Given the description of an element on the screen output the (x, y) to click on. 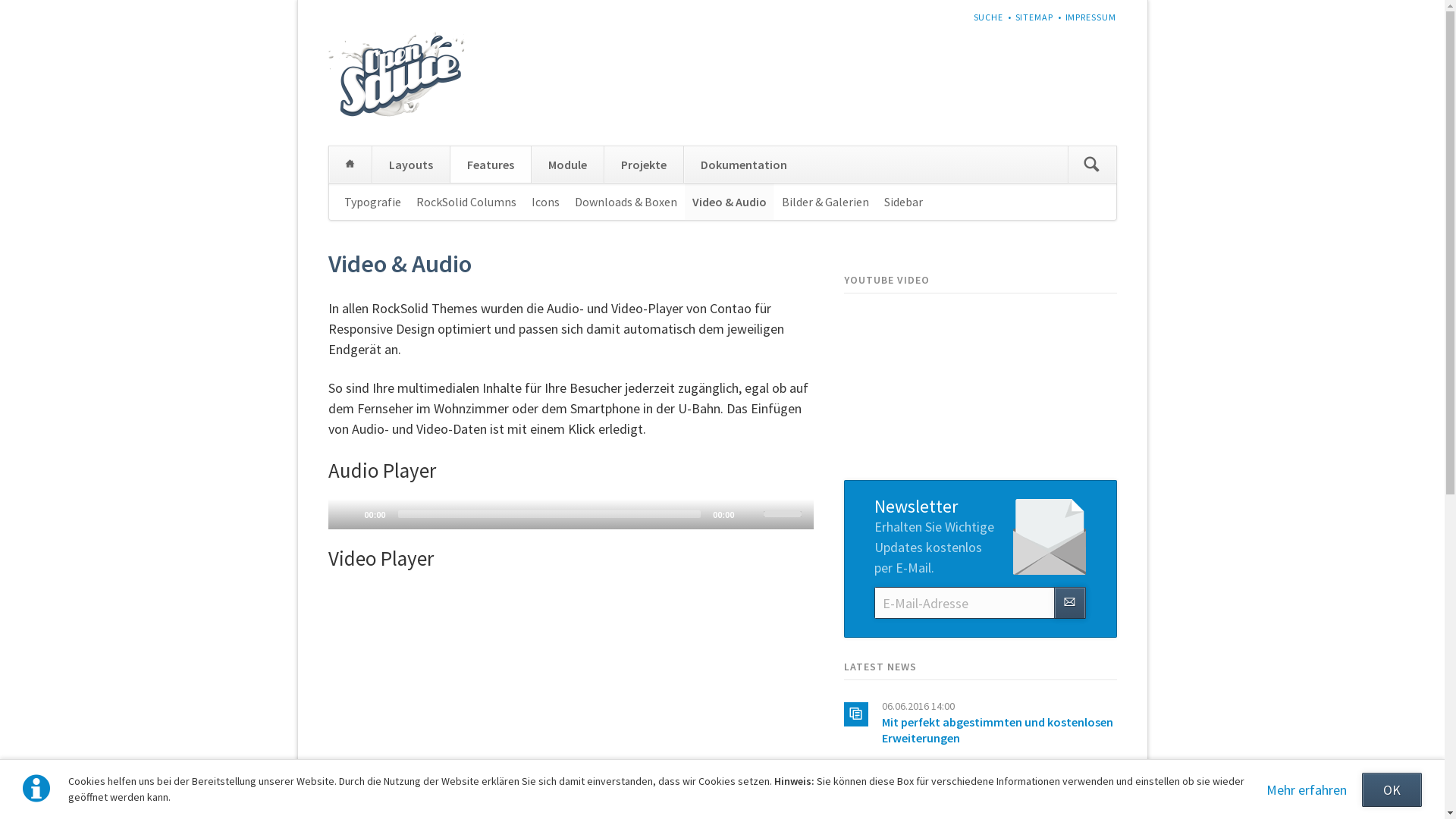
Bilder & Galerien Element type: text (824, 201)
Sidebar Element type: text (903, 201)
Suchen Element type: text (1091, 164)
Mehr erfahren Element type: text (1306, 789)
Features Element type: text (489, 164)
SUCHE Element type: text (988, 16)
RockSolid Columns Element type: text (465, 201)
  Element type: text (1116, 9)
Module Element type: text (566, 164)
Icons Element type: text (544, 201)
Dokumentation Element type: text (742, 164)
Downloads & Boxen Element type: text (625, 201)
Projekte Element type: text (643, 164)
IMPRESSUM Element type: text (1090, 16)
Use Up/Down Arrow keys to increase or decrease volume. Element type: text (783, 512)
Typografie Element type: text (372, 201)
OK Element type: text (1391, 789)
Home Element type: hover (350, 164)
Mit perfekt abgestimmten und kostenlosen Erweiterungen Element type: text (996, 729)
Layouts Element type: text (410, 164)
Abonnieren Element type: text (1069, 602)
SITEMAP Element type: text (1033, 16)
